Given the description of an element on the screen output the (x, y) to click on. 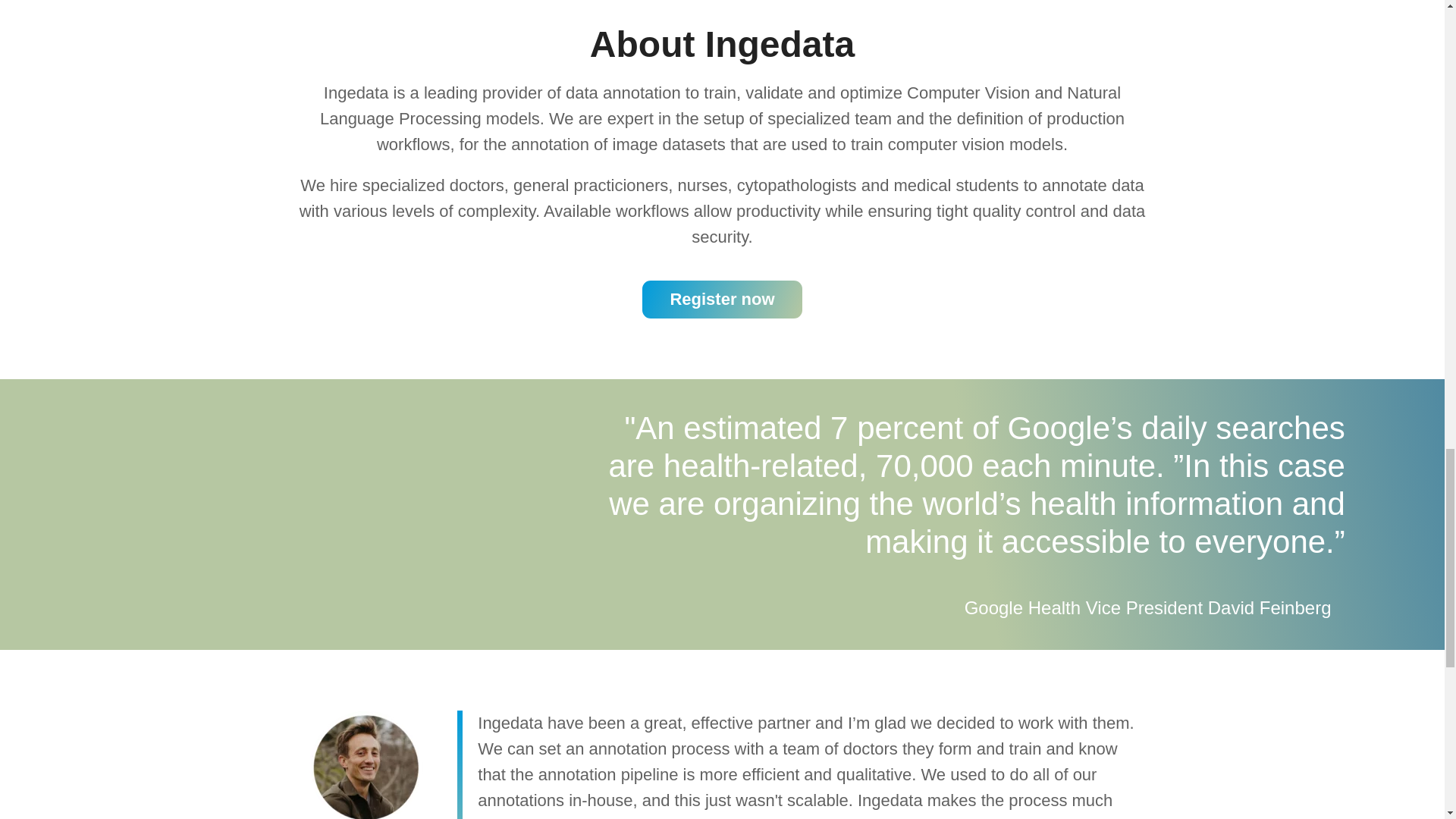
Register now (722, 299)
